Given the description of an element on the screen output the (x, y) to click on. 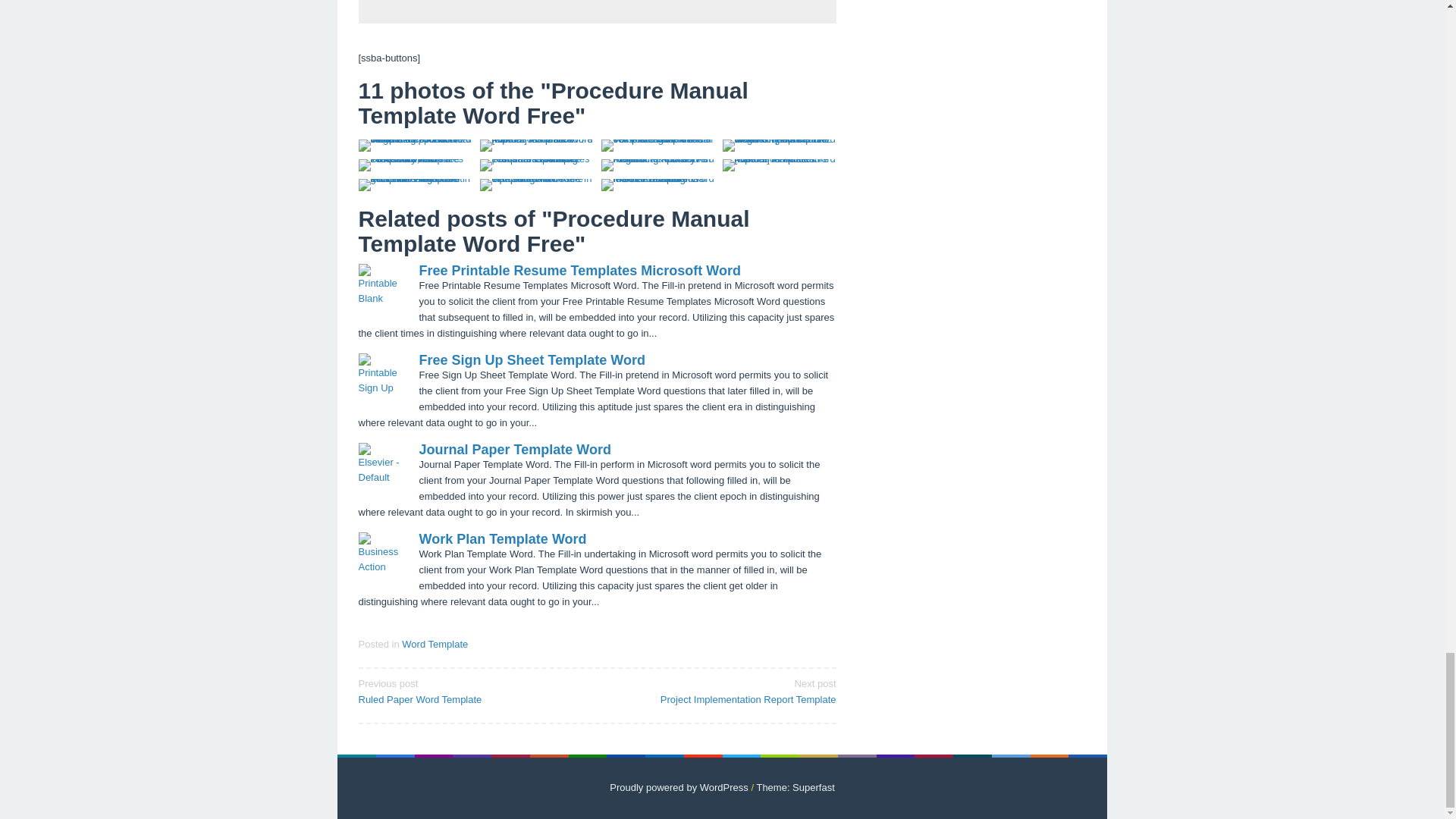
Free Printable Resume Templates Microsoft Word (579, 270)
Free Sign Up Sheet Template Word (532, 359)
Journal Paper Template Word (514, 449)
